Given the description of an element on the screen output the (x, y) to click on. 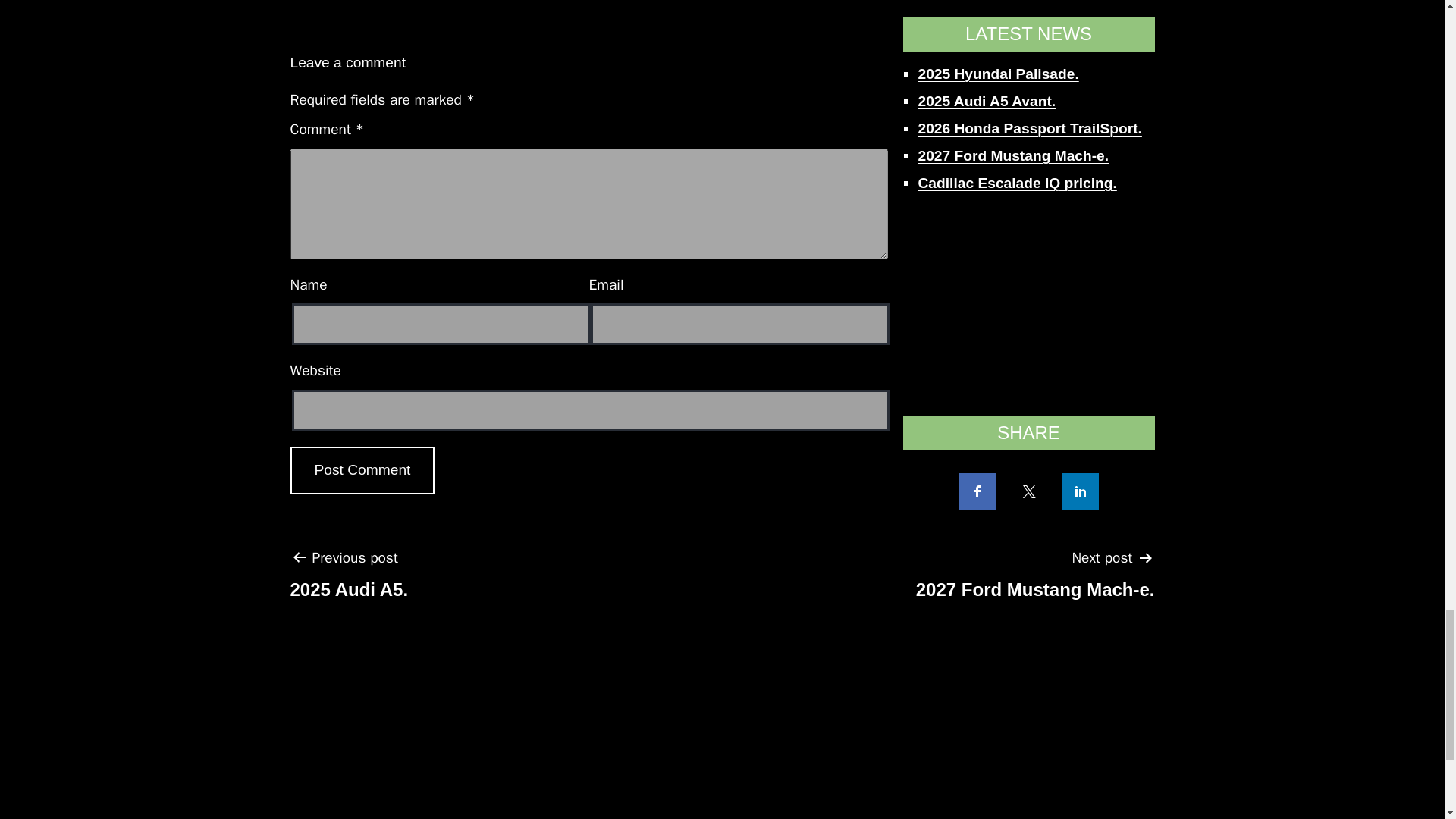
Post Comment (361, 470)
Post Comment (348, 579)
